Given the description of an element on the screen output the (x, y) to click on. 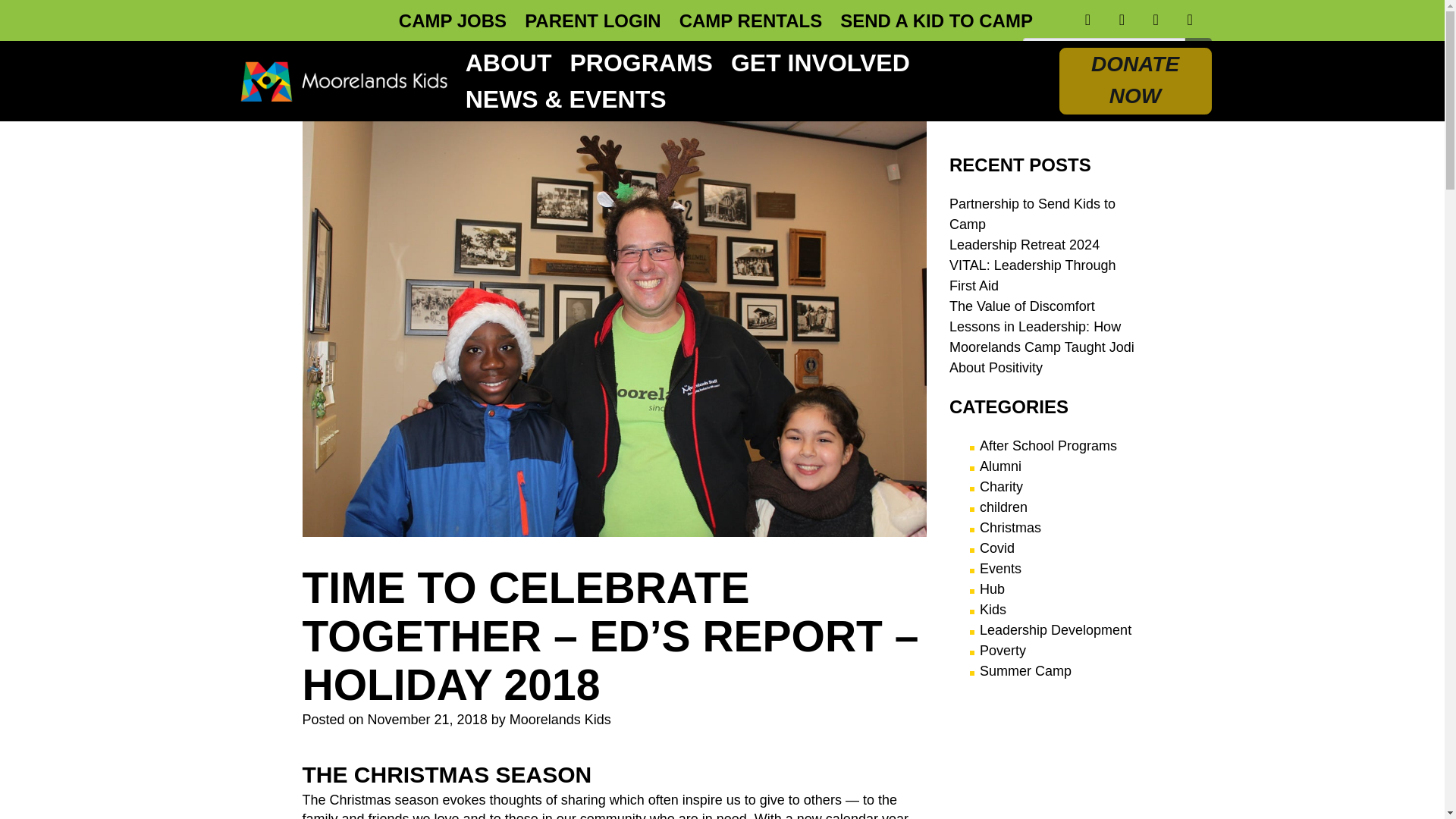
CAMP JOBS (452, 20)
MOORELANDS KIDS (352, 125)
PROGRAMS (640, 63)
YouTube (1190, 20)
ABOUT (508, 63)
CAMP RENTALS (750, 20)
LinkedIN (1156, 20)
GET INVOLVED (820, 63)
SEND A KID TO CAMP (936, 20)
Facebook (1088, 20)
